Given the description of an element on the screen output the (x, y) to click on. 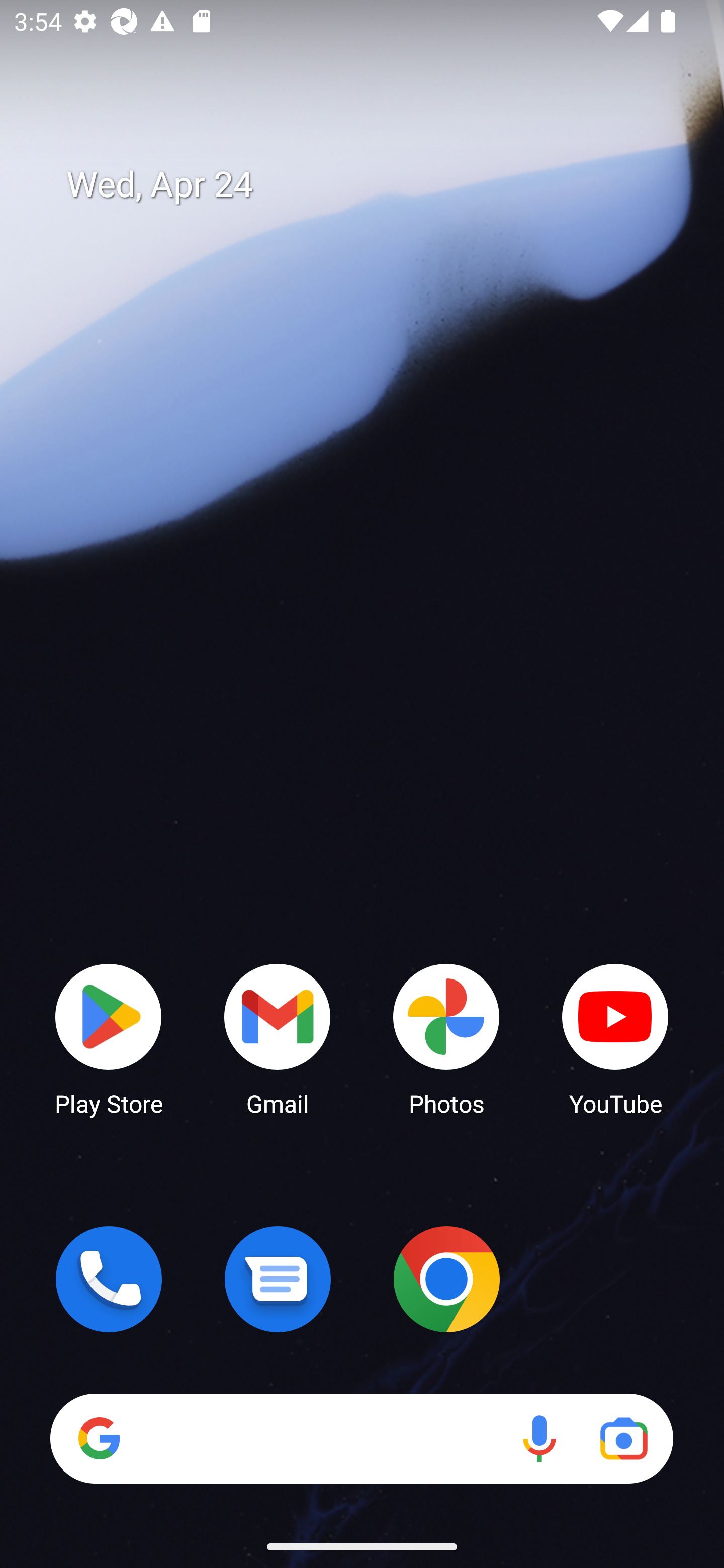
Wed, Apr 24 (375, 184)
Play Store (108, 1038)
Gmail (277, 1038)
Photos (445, 1038)
YouTube (615, 1038)
Phone (108, 1279)
Messages (277, 1279)
Chrome (446, 1279)
Search Voice search Google Lens (361, 1438)
Voice search (539, 1438)
Google Lens (623, 1438)
